Given the description of an element on the screen output the (x, y) to click on. 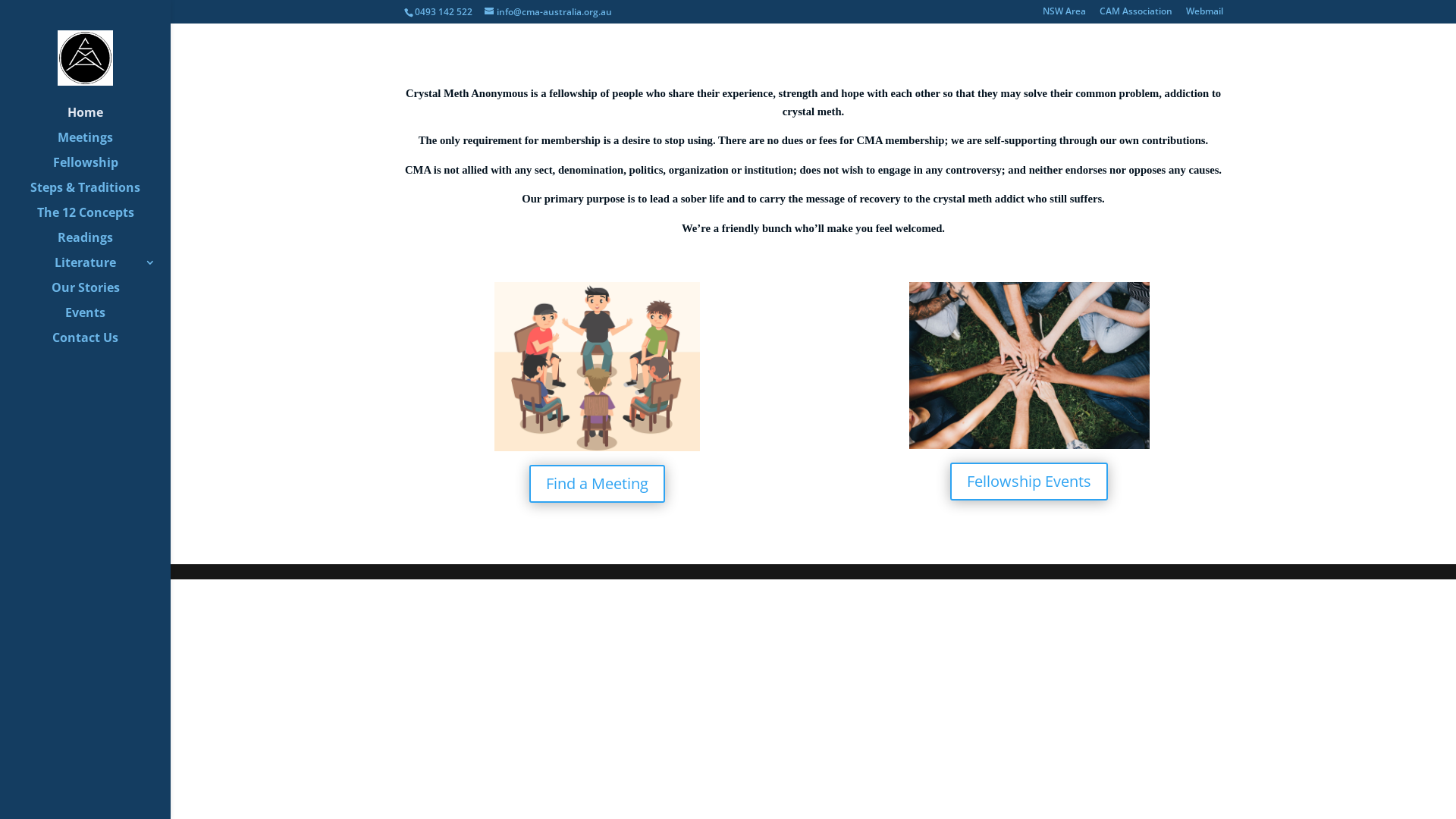
Meetings Element type: text (100, 143)
CAM Association Element type: text (1135, 14)
Our Stories Element type: text (100, 294)
Events Element type: text (100, 318)
meeting Element type: hover (596, 366)
Literature Element type: text (100, 268)
The 12 Concepts Element type: text (100, 218)
NSW Area Element type: text (1063, 14)
Fellowship Element type: text (100, 168)
Readings Element type: text (100, 244)
info@cma-australia.org.au Element type: text (547, 11)
Fellowship Events Element type: text (1028, 481)
Hands Element type: hover (1028, 365)
Find a Meeting Element type: text (597, 483)
Steps & Traditions Element type: text (100, 194)
Home Element type: text (100, 118)
Webmail Element type: text (1204, 14)
Contact Us Element type: text (100, 344)
